Given the description of an element on the screen output the (x, y) to click on. 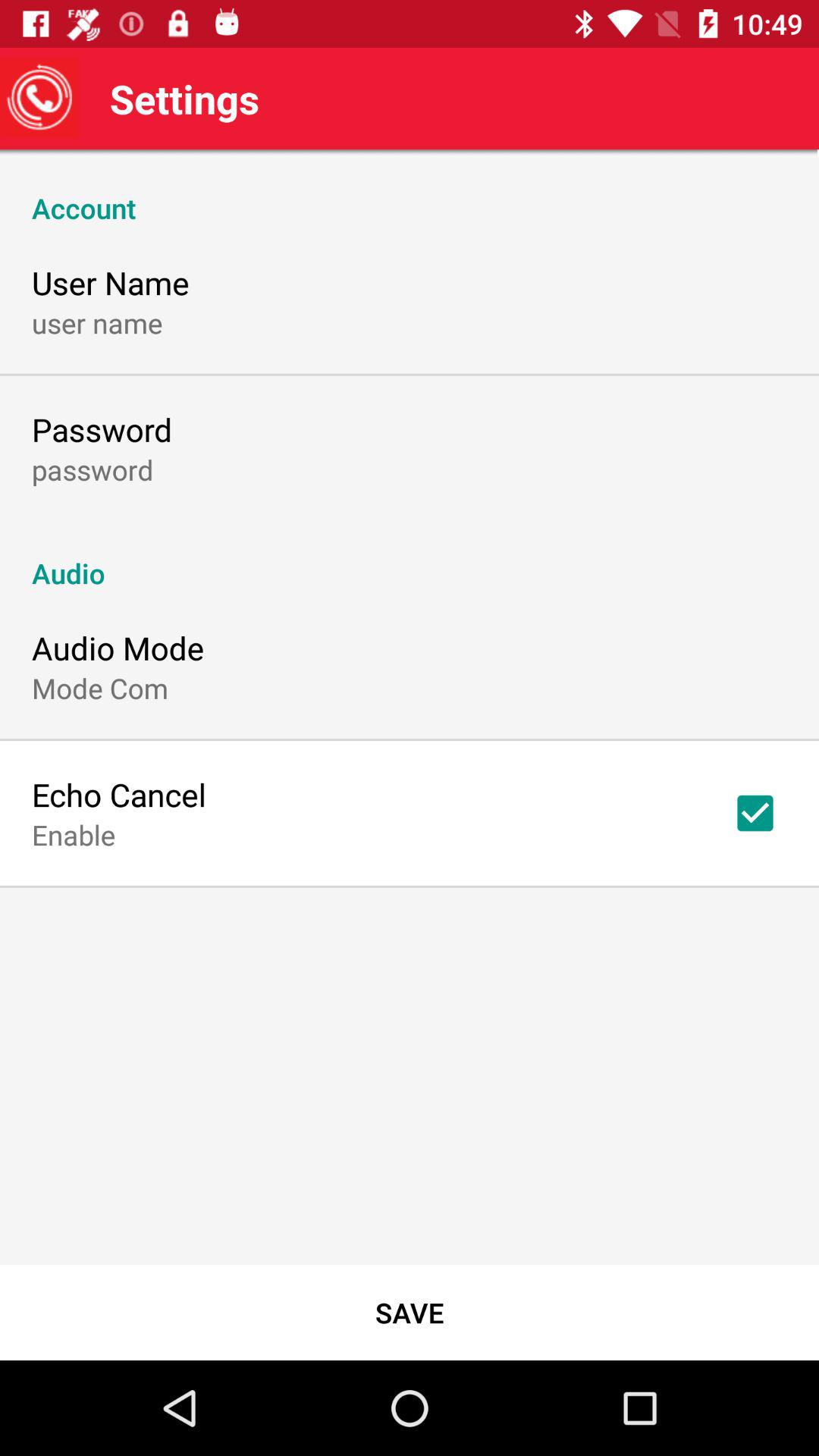
press the item below the audio app (755, 813)
